Given the description of an element on the screen output the (x, y) to click on. 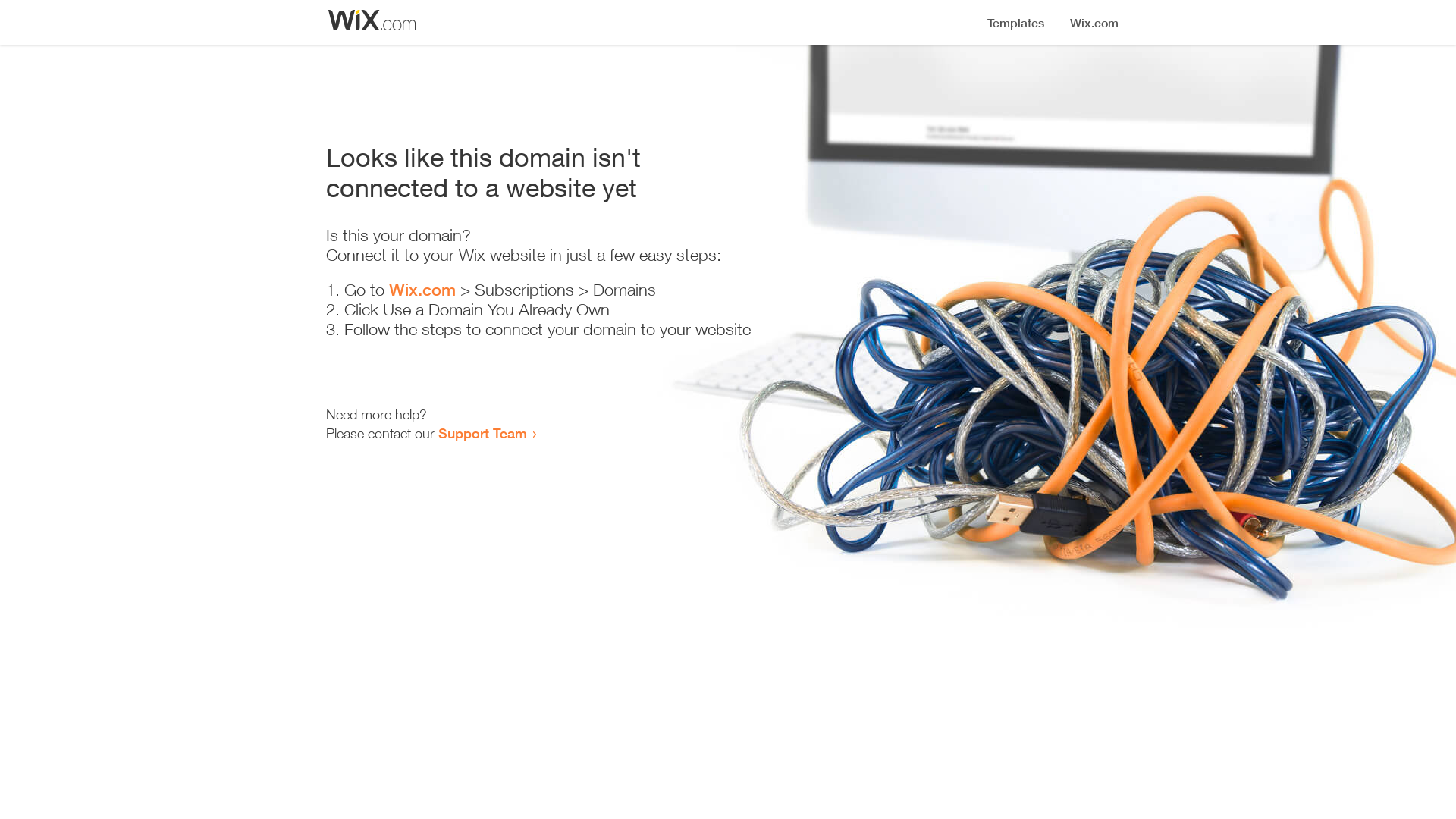
Support Team Element type: text (482, 432)
Wix.com Element type: text (422, 289)
